Given the description of an element on the screen output the (x, y) to click on. 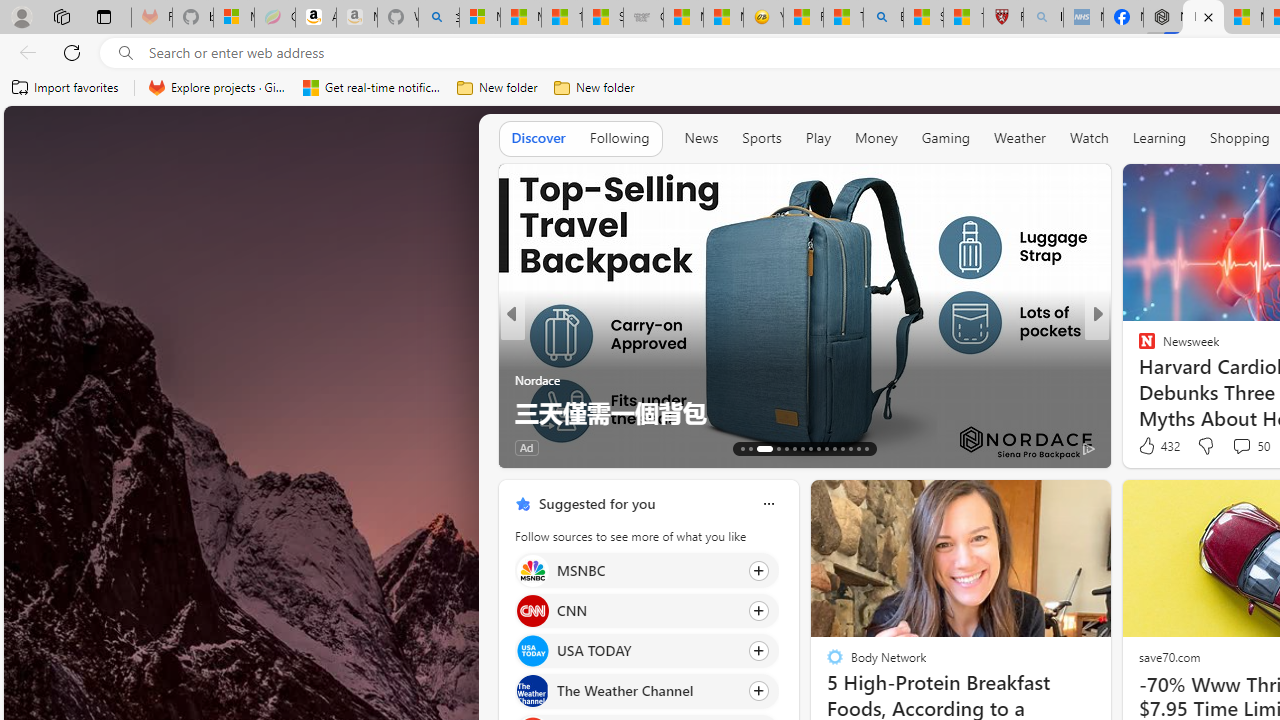
Click to follow source CNN (646, 610)
View comments 29 Comment (1234, 447)
Click to follow source MSNBC (646, 570)
451 Like (1151, 447)
Combat Siege (643, 17)
Gaming (945, 137)
Moneywise (1138, 347)
Class: icon-img (768, 503)
View comments 29 Comment (1244, 447)
AutomationID: tab-69 (772, 448)
View comments 12 Comment (619, 447)
View comments 28 Comment (1229, 447)
Import favorites (65, 88)
